Given the description of an element on the screen output the (x, y) to click on. 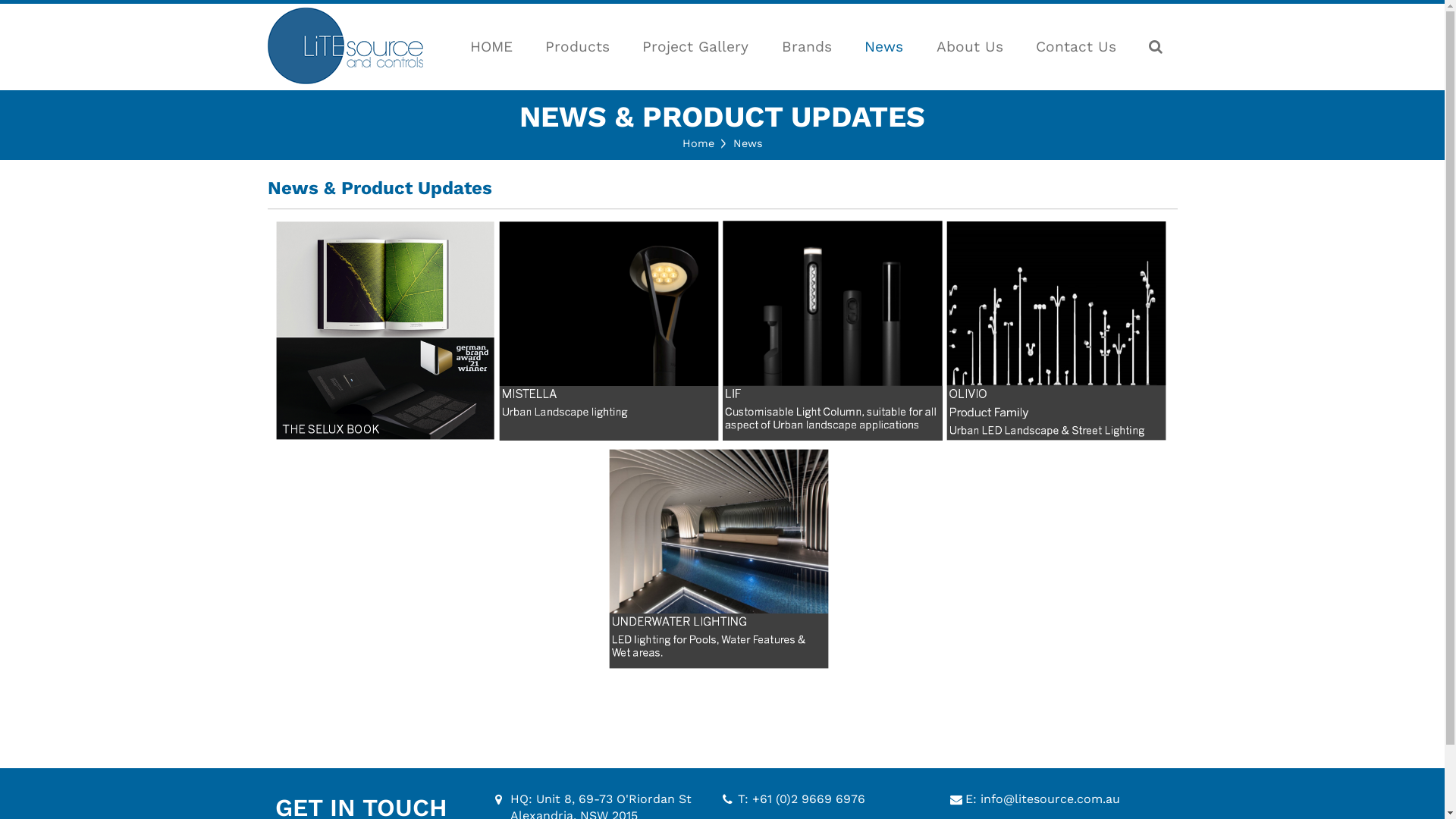
Brands Element type: text (806, 46)
News Element type: text (883, 46)
+61 (0)2 9669 6976 Element type: text (808, 798)
HOME Element type: text (490, 46)
Project Gallery Element type: text (694, 46)
Contact Us Element type: text (1075, 46)
Home Element type: text (698, 143)
info@litesource.com.au Element type: text (1049, 798)
Products Element type: text (577, 46)
About Us Element type: text (968, 46)
